Given the description of an element on the screen output the (x, y) to click on. 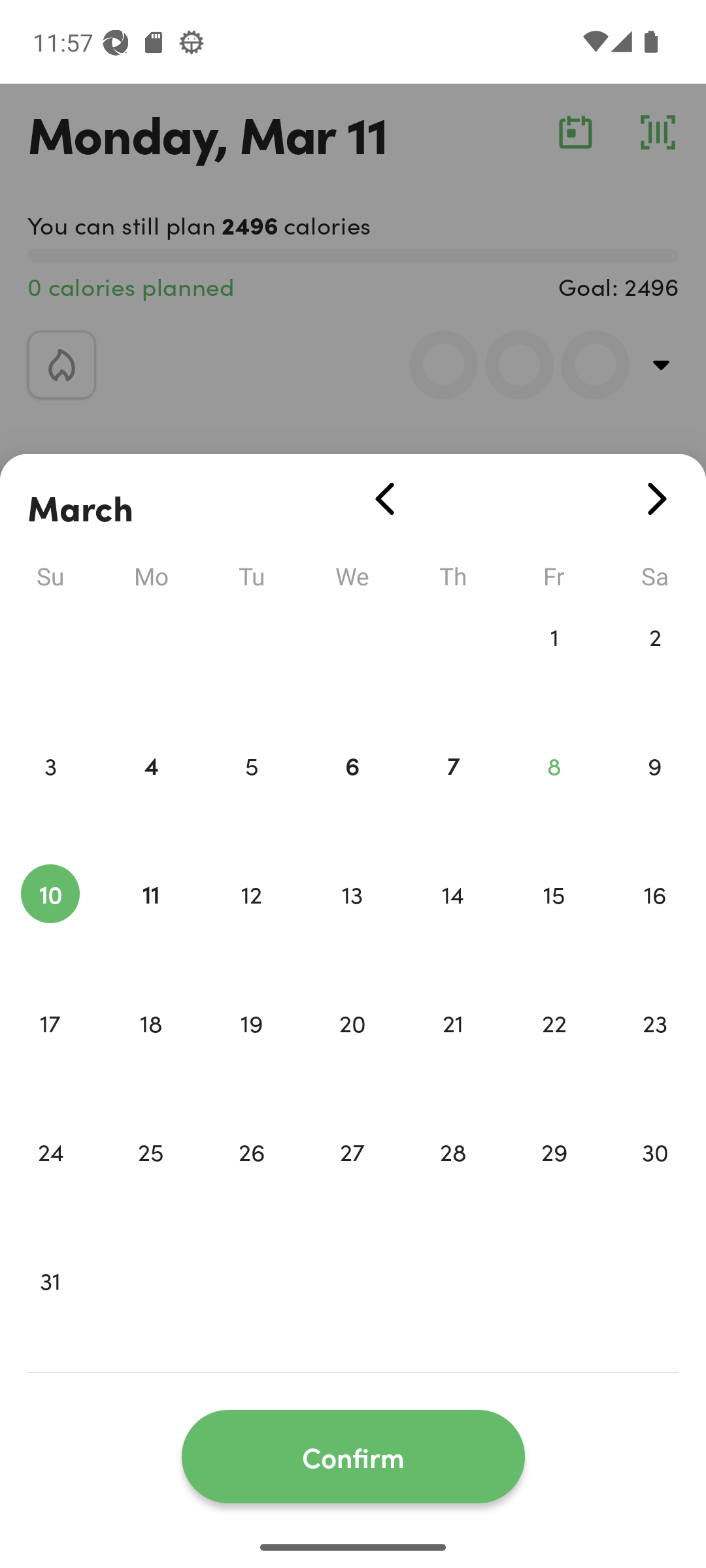
1 (554, 663)
2 (655, 663)
3 (50, 793)
4 (150, 793)
5 (251, 793)
6 (352, 793)
7 (453, 793)
8 (554, 793)
9 (655, 793)
10 (50, 921)
11 (150, 921)
12 (251, 921)
13 (352, 921)
14 (453, 921)
15 (554, 921)
16 (655, 921)
17 (50, 1050)
18 (150, 1050)
19 (251, 1050)
20 (352, 1050)
21 (453, 1050)
22 (554, 1050)
23 (655, 1050)
24 (50, 1178)
25 (150, 1178)
26 (251, 1178)
27 (352, 1178)
28 (453, 1178)
29 (554, 1178)
30 (655, 1178)
31 (50, 1307)
Confirm (353, 1456)
